Given the description of an element on the screen output the (x, y) to click on. 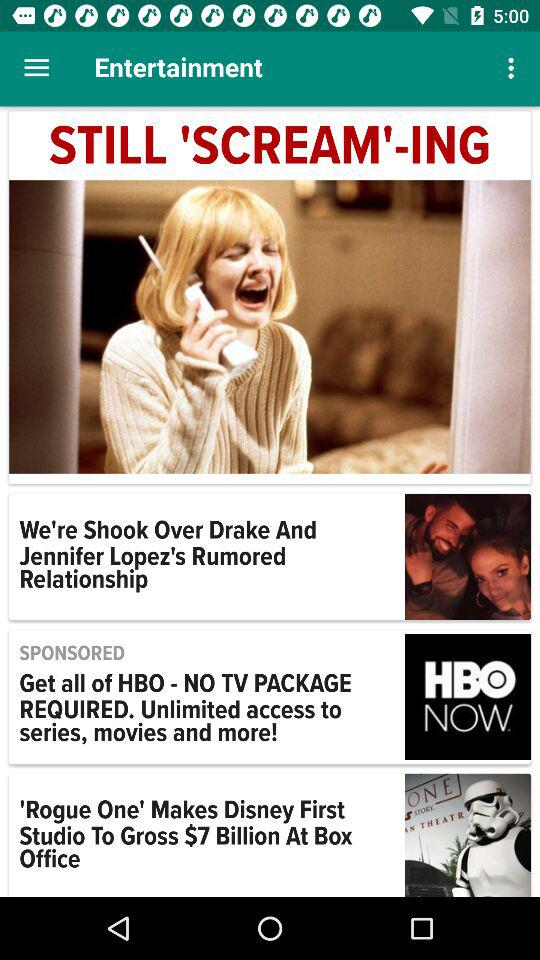
launch the item to the left of the entertainment icon (36, 68)
